Given the description of an element on the screen output the (x, y) to click on. 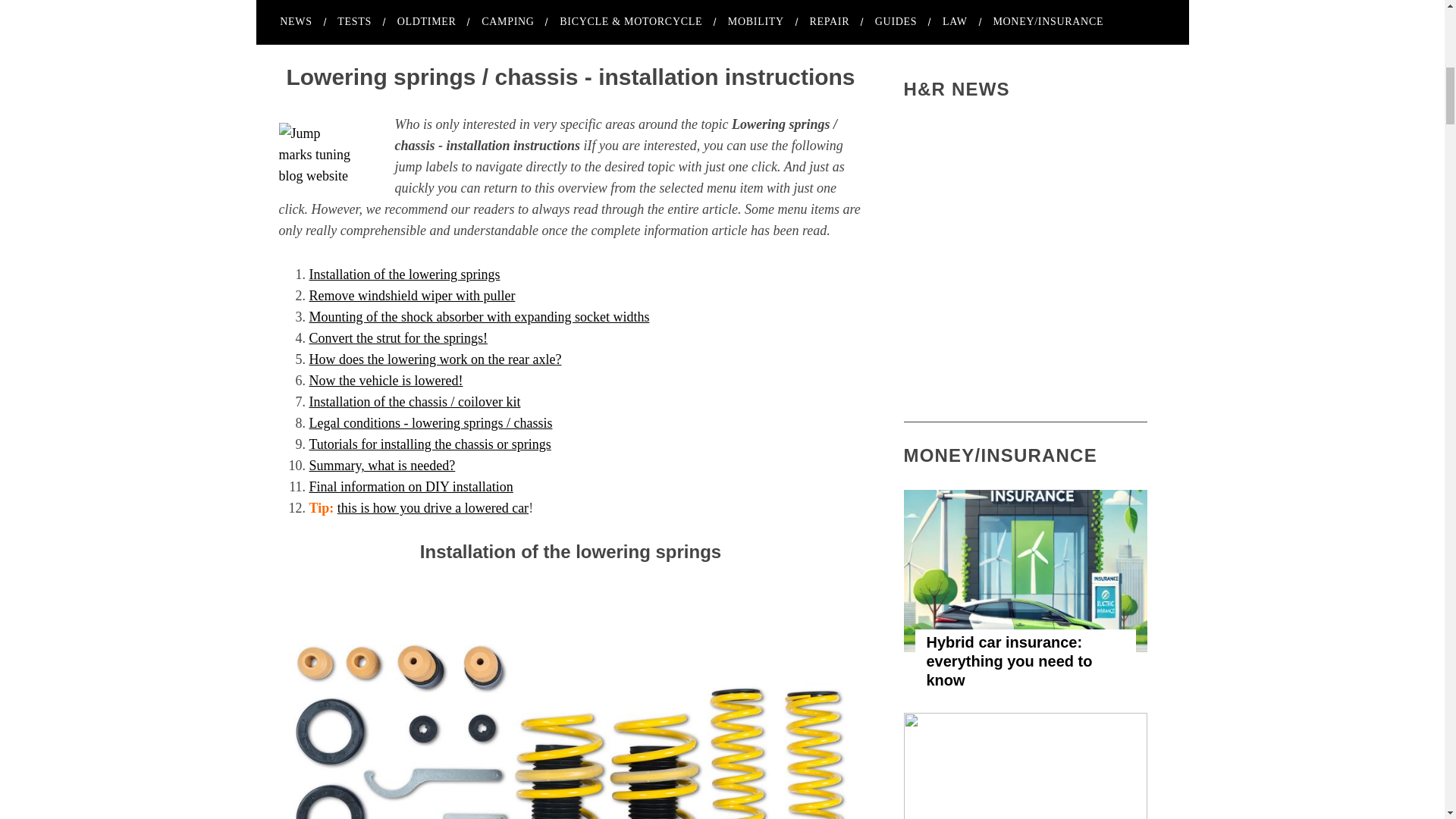
Mounting of the shock absorber with expanding socket widths (478, 316)
Remove windshield wiper with puller (411, 295)
Installation of the lowering springs (404, 273)
Jump marks tuning blog website (316, 156)
Now the vehicle is lowered! (385, 380)
How does the lowering work on the rear axle? (435, 359)
Convert the strut for the springs! (397, 337)
